Given the description of an element on the screen output the (x, y) to click on. 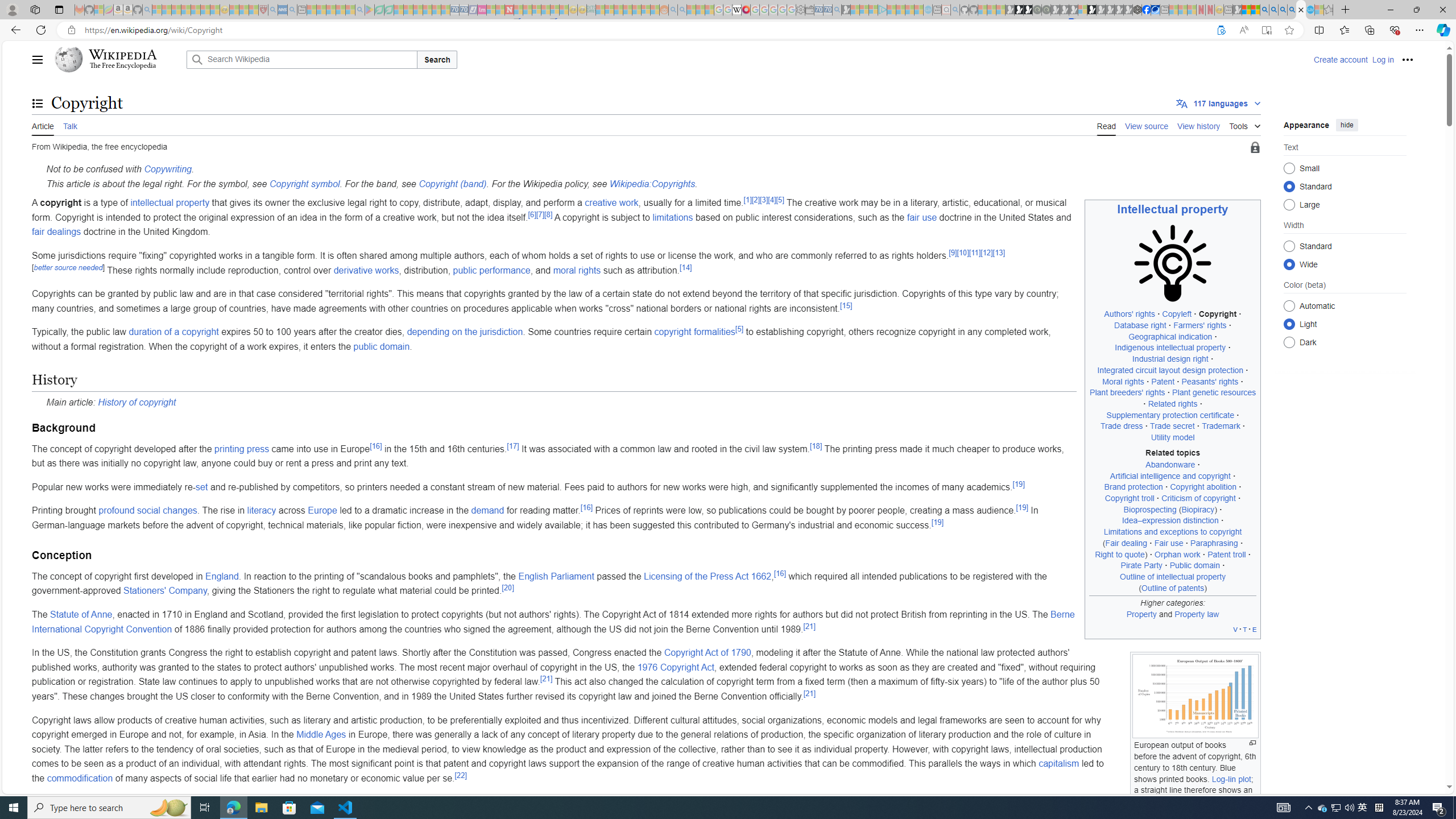
MediaWiki (745, 9)
[22] (460, 774)
View source (1147, 124)
[21] (809, 692)
Search (436, 59)
Home | Sky Blue Bikes - Sky Blue Bikes - Sleeping (927, 9)
fair dealings (56, 231)
